Given the description of an element on the screen output the (x, y) to click on. 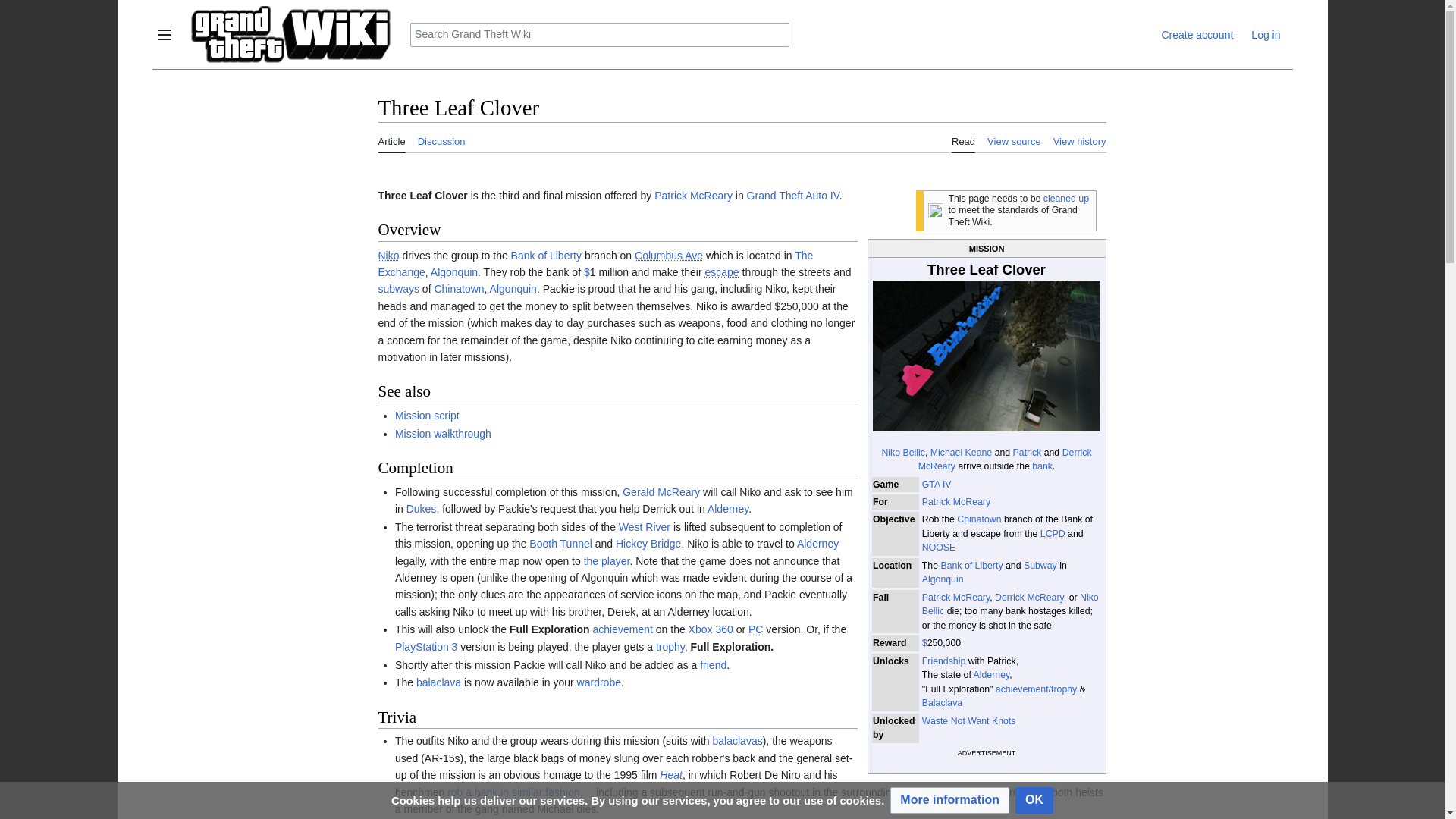
Go (776, 34)
Go (776, 34)
Search pages for this text (776, 34)
Search (776, 34)
Search (776, 34)
Main menu (163, 34)
Log in (1264, 34)
Create account (1196, 34)
Search (776, 34)
